Given the description of an element on the screen output the (x, y) to click on. 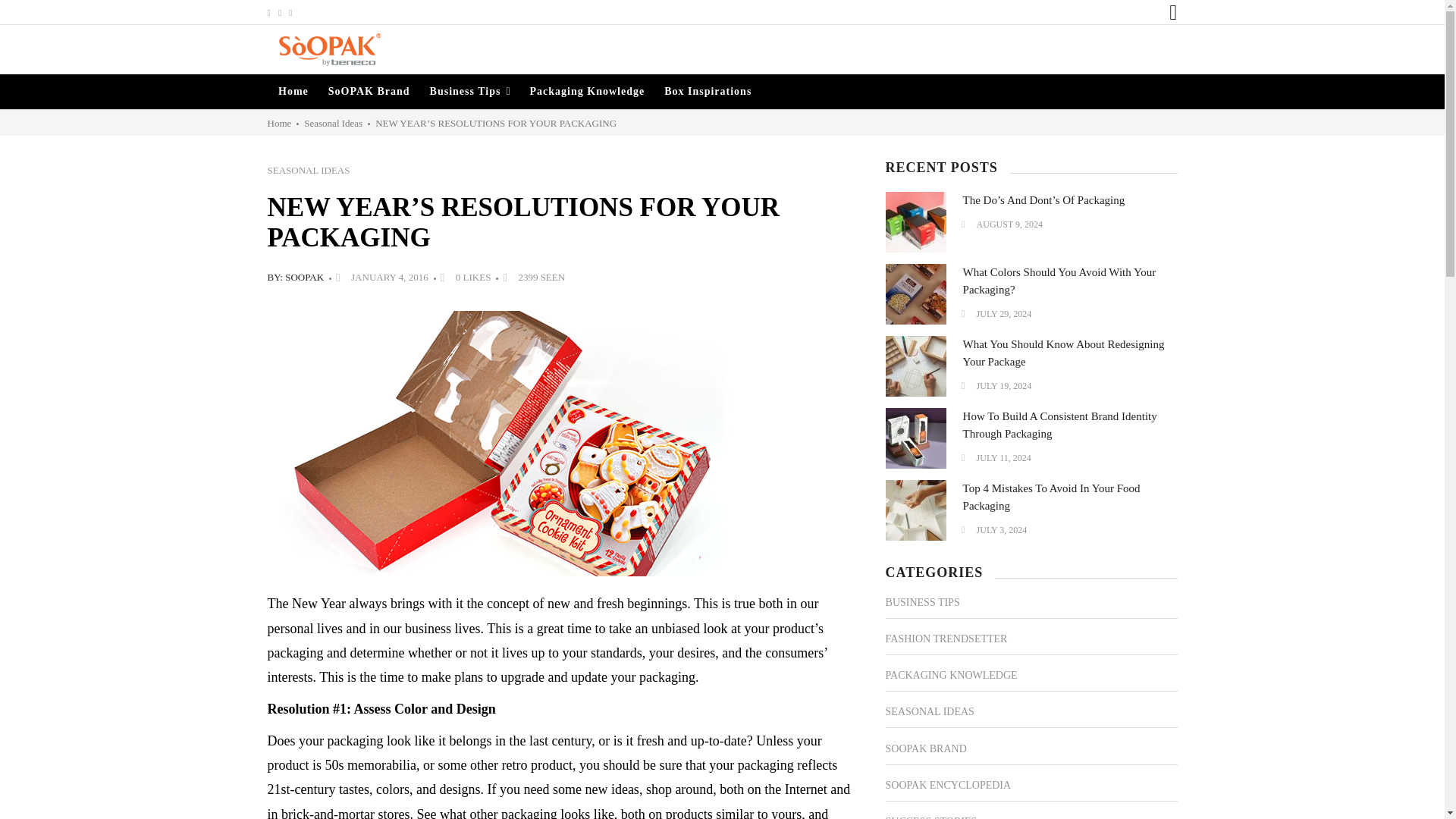
Packaging Knowledge (587, 91)
Box Inspirations (707, 91)
SoOPAK Brand (369, 91)
Home (292, 91)
Business Tips (469, 91)
